Given the description of an element on the screen output the (x, y) to click on. 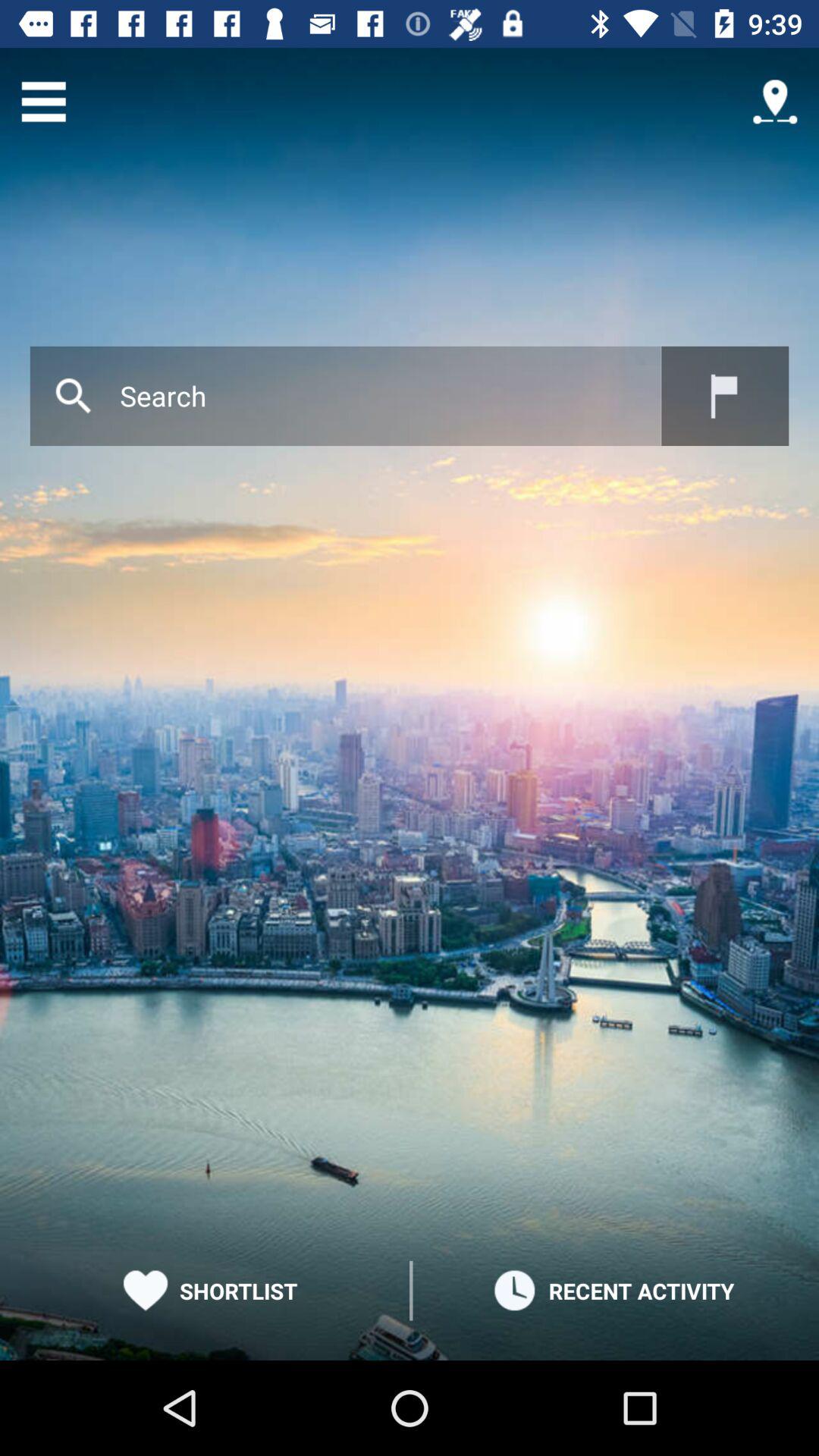
toggle navigation (775, 101)
